Given the description of an element on the screen output the (x, y) to click on. 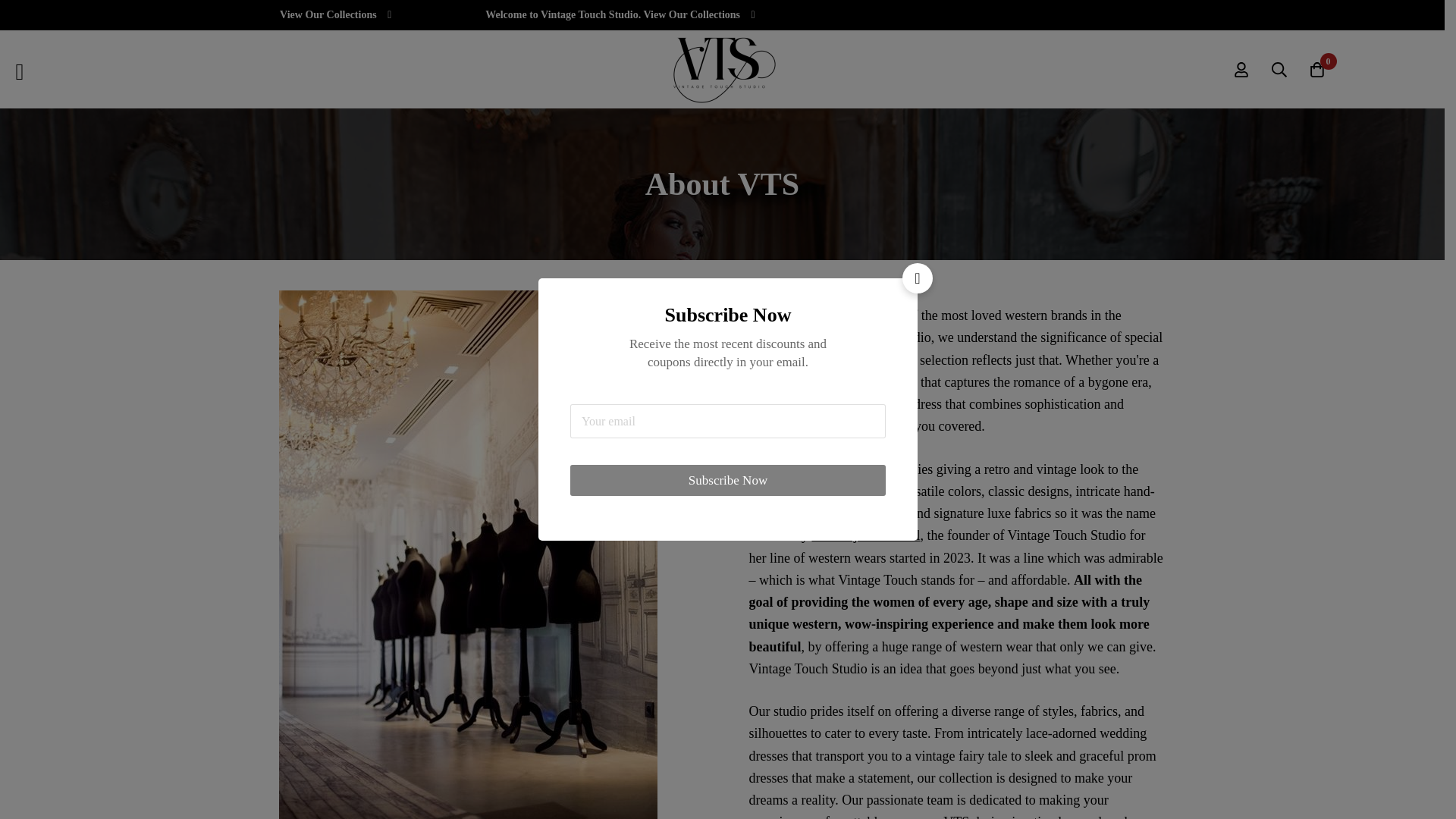
0 (1317, 68)
Subscribe Now (727, 480)
Welcome to Vintage Touch Studio. View Our Collections (610, 14)
Welcome to Vintage Touch Studio. View Our Collections (247, 14)
